Given the description of an element on the screen output the (x, y) to click on. 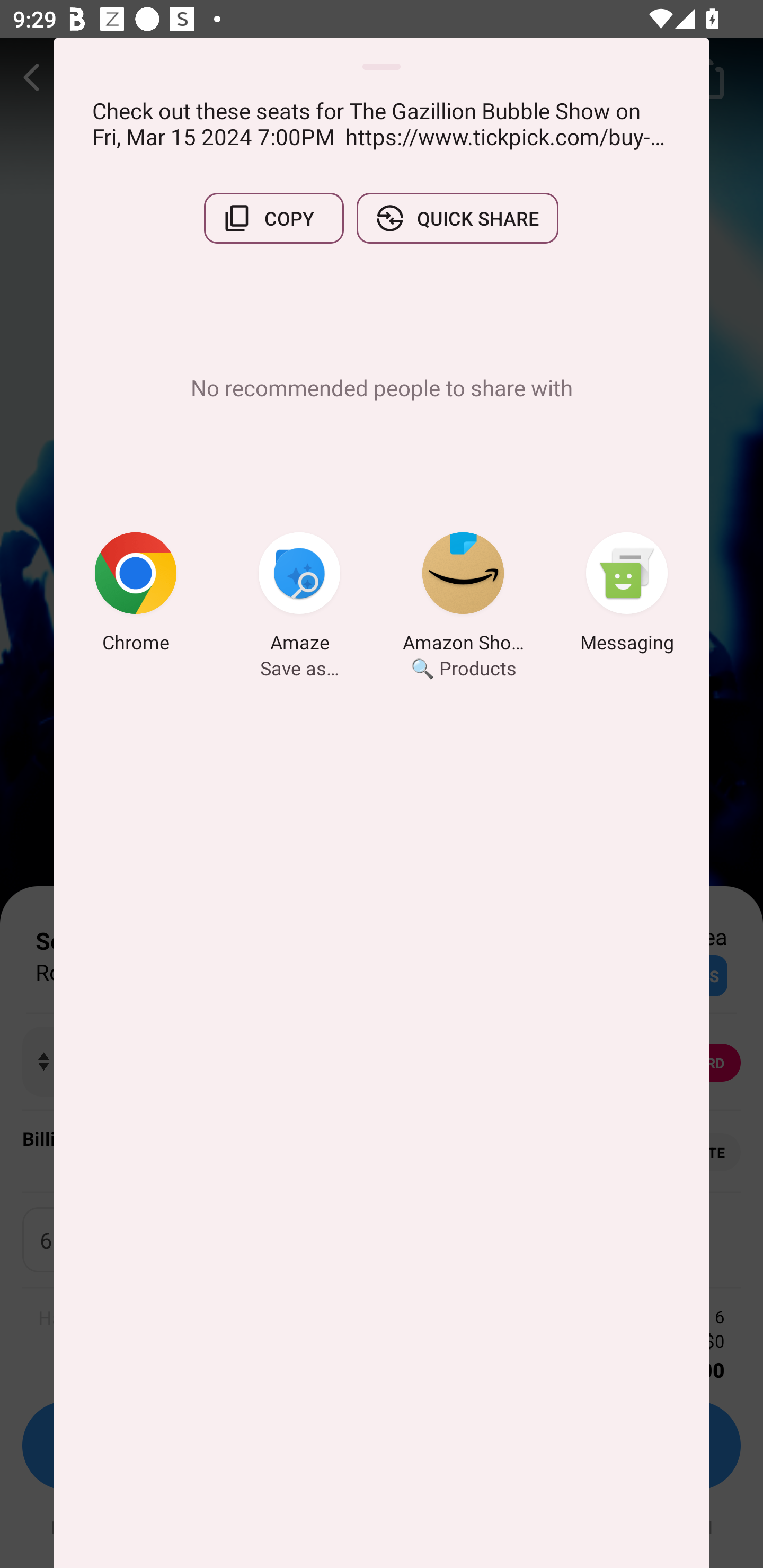
COPY (273, 218)
QUICK SHARE (457, 218)
Chrome (135, 594)
Amaze Save as… (299, 594)
Amazon Shopping 🔍 Products (463, 594)
Messaging (626, 594)
